Given the description of an element on the screen output the (x, y) to click on. 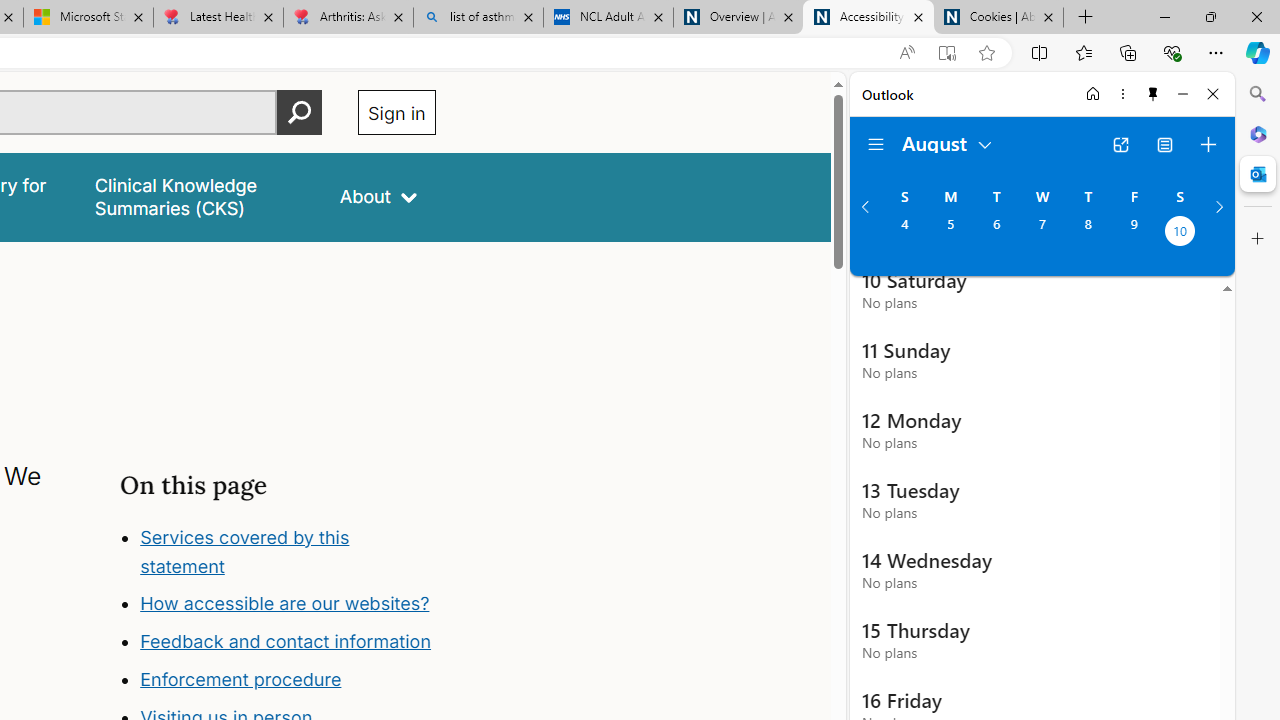
Close Customize pane (1258, 239)
About (378, 196)
Services covered by this statement (287, 551)
Sign in (396, 112)
Friday, August 9, 2024.  (1134, 233)
Enforcement procedure (287, 680)
